Given the description of an element on the screen output the (x, y) to click on. 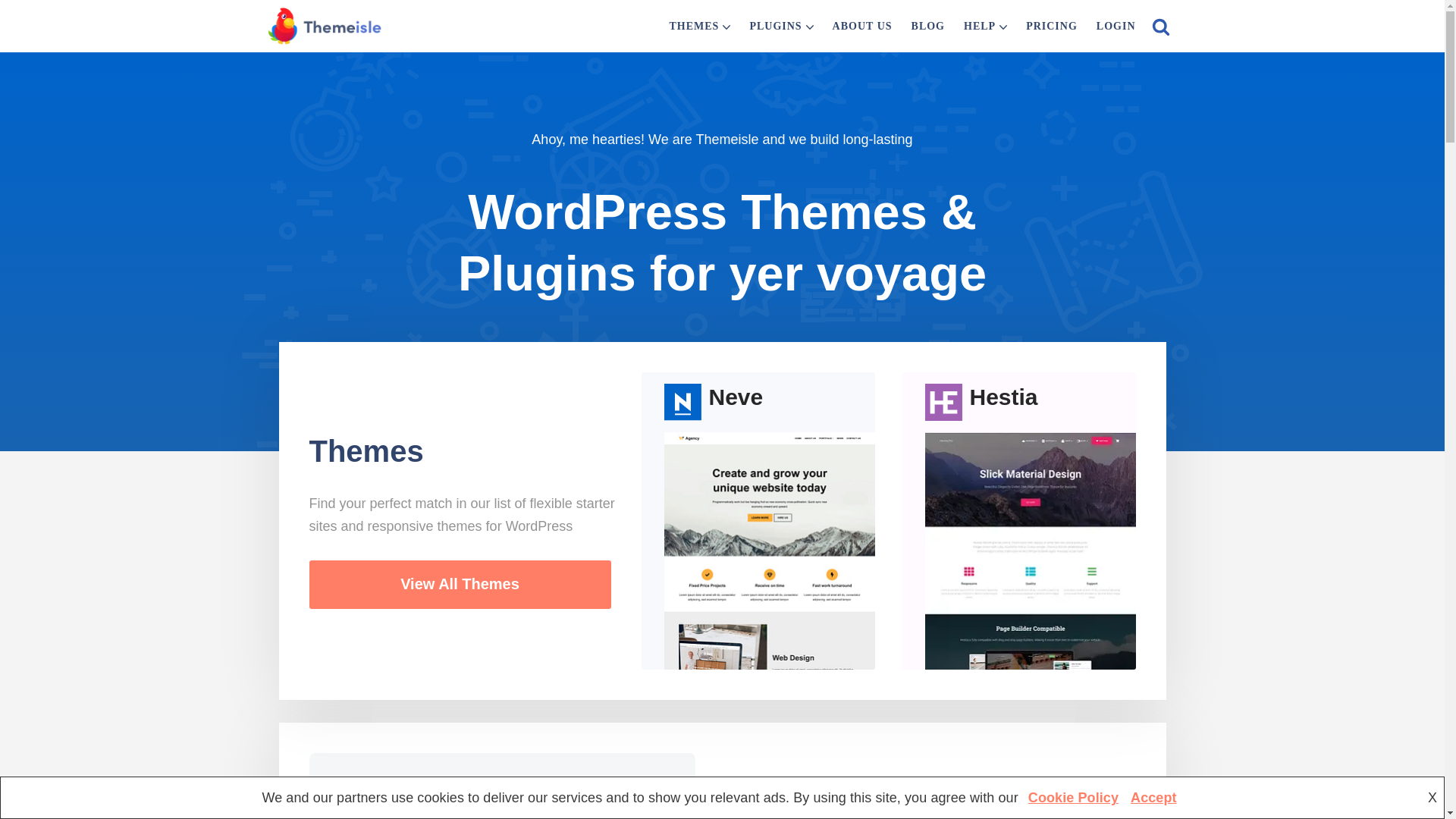
PRICING (1051, 26)
THEMES (693, 26)
BLOG (927, 26)
PLUGINS (775, 26)
ABOUT US (862, 26)
HELP (979, 26)
Skip to content (11, 31)
LOGIN (1115, 26)
